Given the description of an element on the screen output the (x, y) to click on. 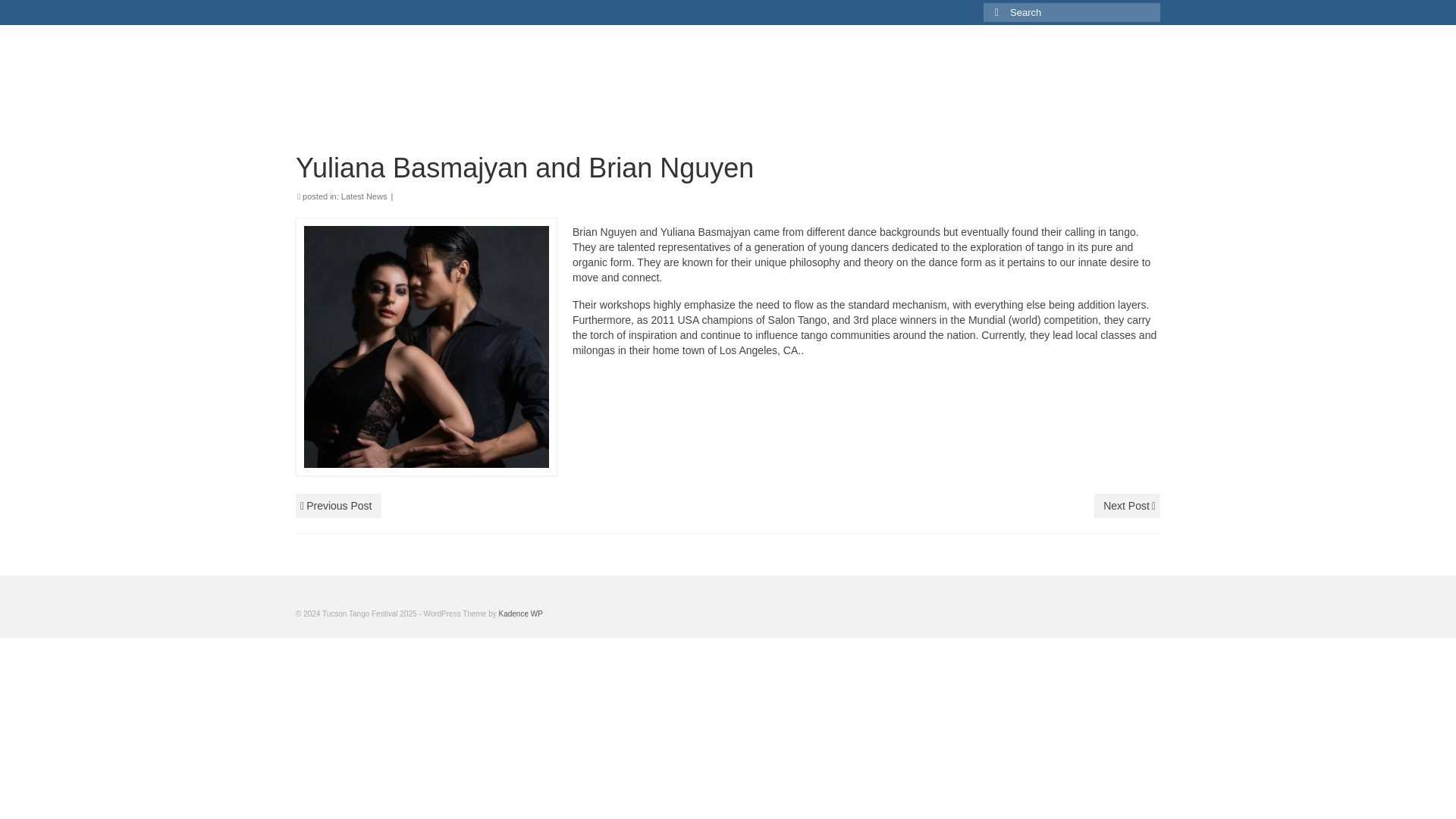
Next Post (1127, 505)
Refund Policy (913, 70)
Previous Post (338, 505)
Private Lessons (1017, 70)
Things to Do Around The Venue (776, 102)
Home (620, 70)
Latest News (363, 195)
Venue Hotel (636, 102)
Floor Payment (921, 102)
Schedule (737, 70)
